Given the description of an element on the screen output the (x, y) to click on. 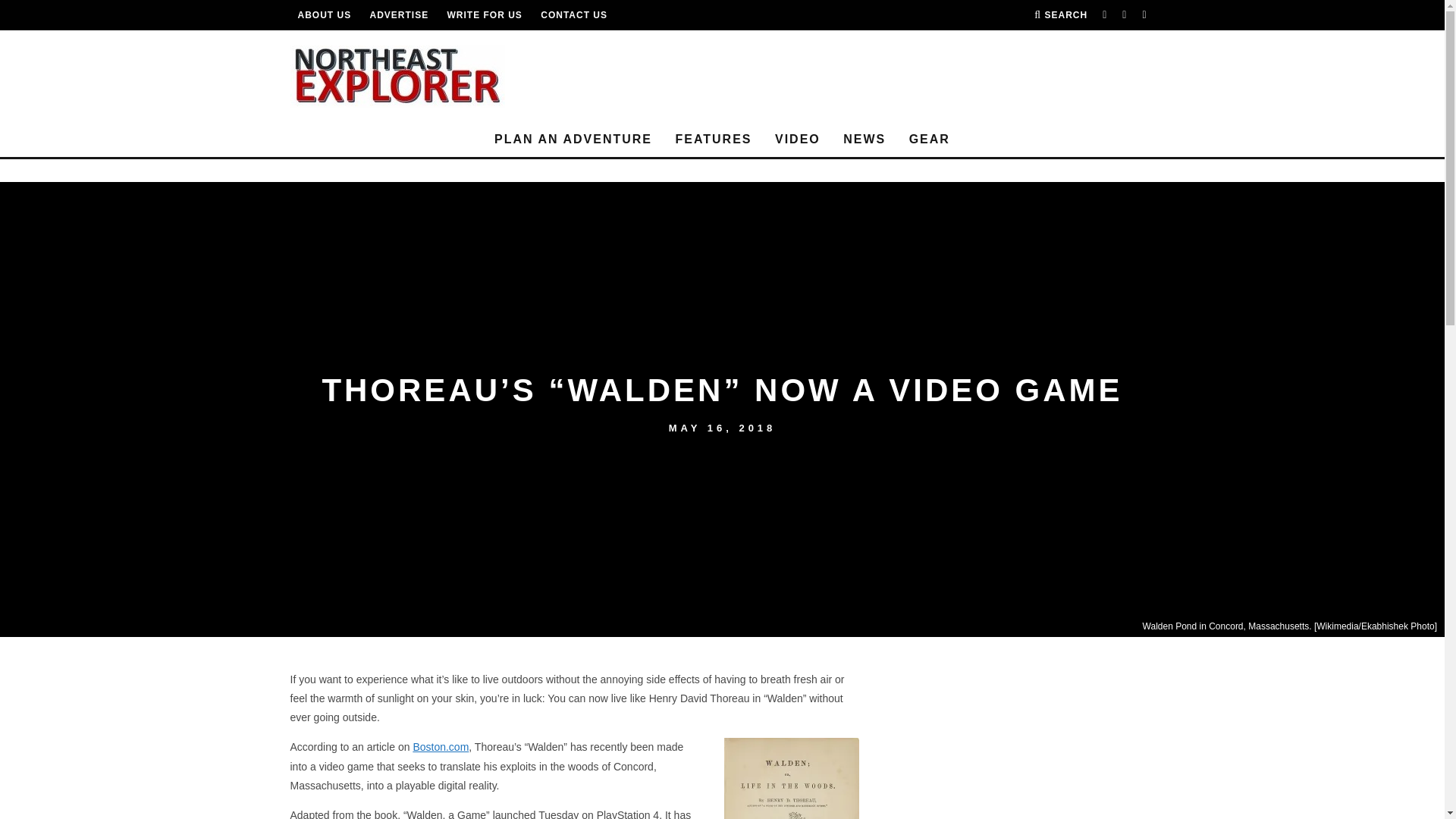
ABOUT US (323, 15)
FEATURES (712, 139)
Boston.com (440, 746)
WRITE FOR US (484, 15)
ADVERTISE (399, 15)
GEAR (929, 139)
VIDEO (797, 139)
SEARCH (1060, 15)
NEWS (864, 139)
CONTACT US (573, 15)
